Given the description of an element on the screen output the (x, y) to click on. 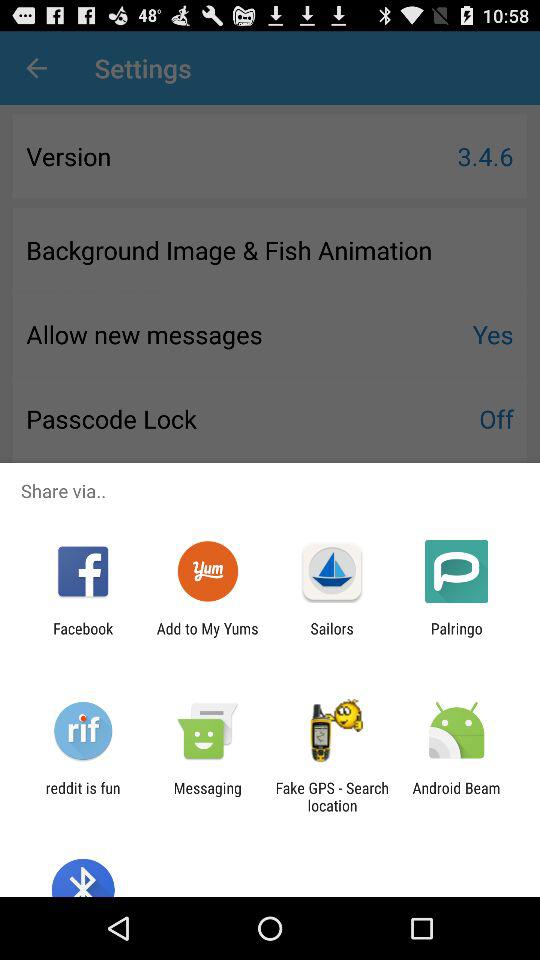
turn off the item to the left of android beam item (332, 796)
